Given the description of an element on the screen output the (x, y) to click on. 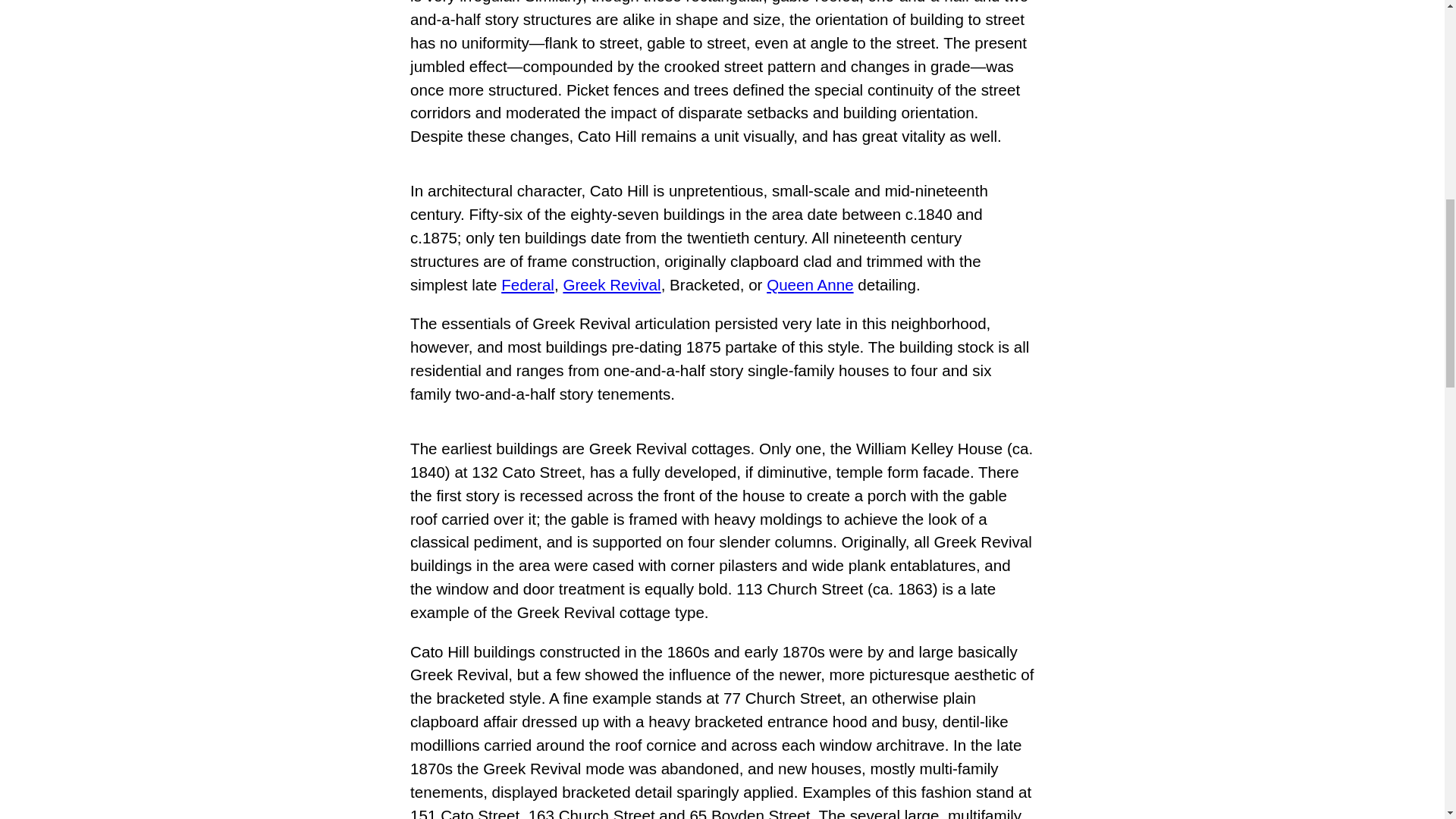
Federal (527, 284)
Greek Revival (611, 284)
